Given the description of an element on the screen output the (x, y) to click on. 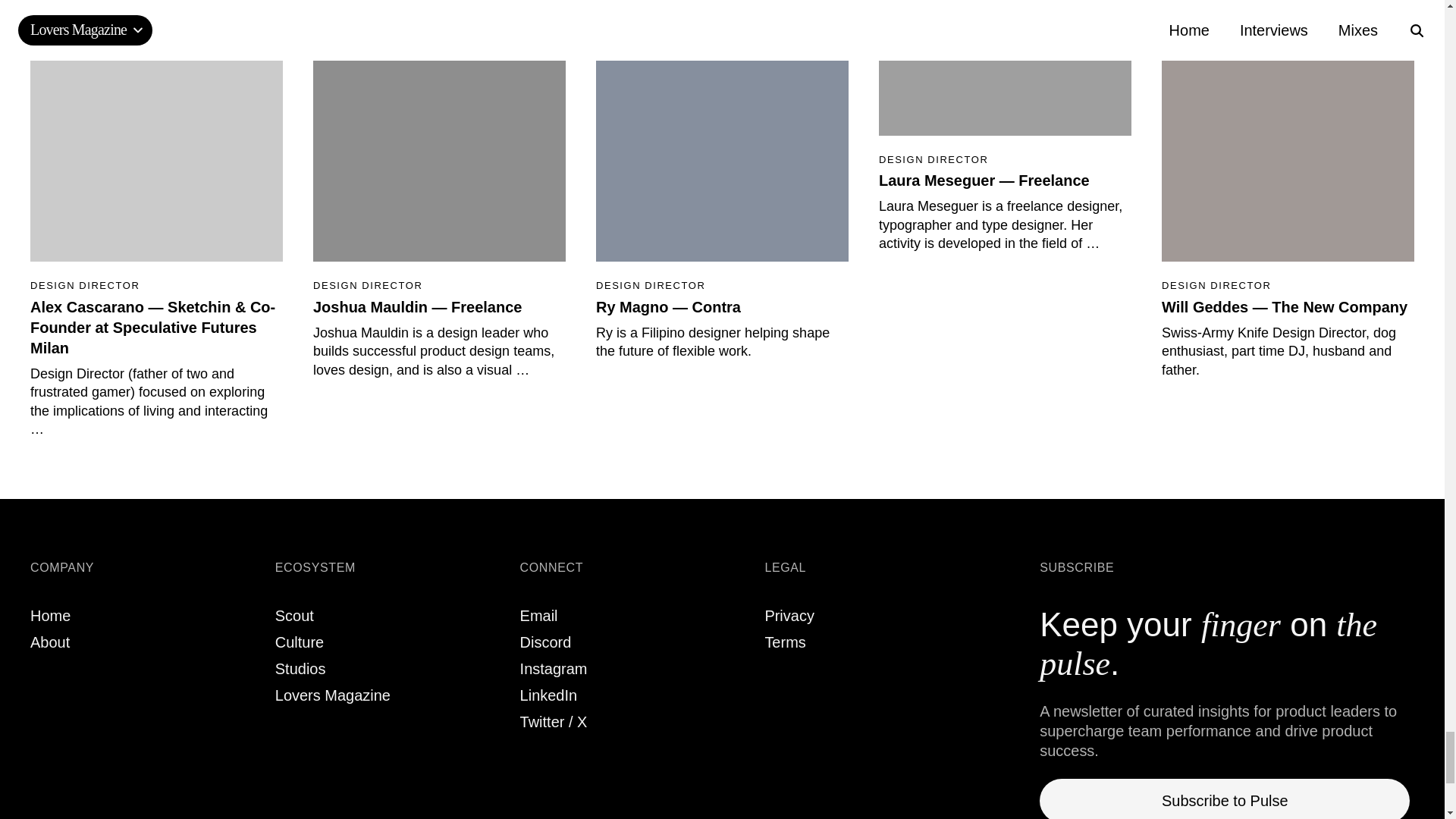
DESIGN DIRECTOR (1005, 158)
Hire Studios (300, 668)
Boost Brand (299, 641)
Home (49, 615)
Scout (294, 615)
Recruit Candidates (294, 615)
DESIGN DIRECTOR (721, 285)
Home (49, 615)
DESIGN DIRECTOR (1287, 285)
Privacy (788, 615)
